Given the description of an element on the screen output the (x, y) to click on. 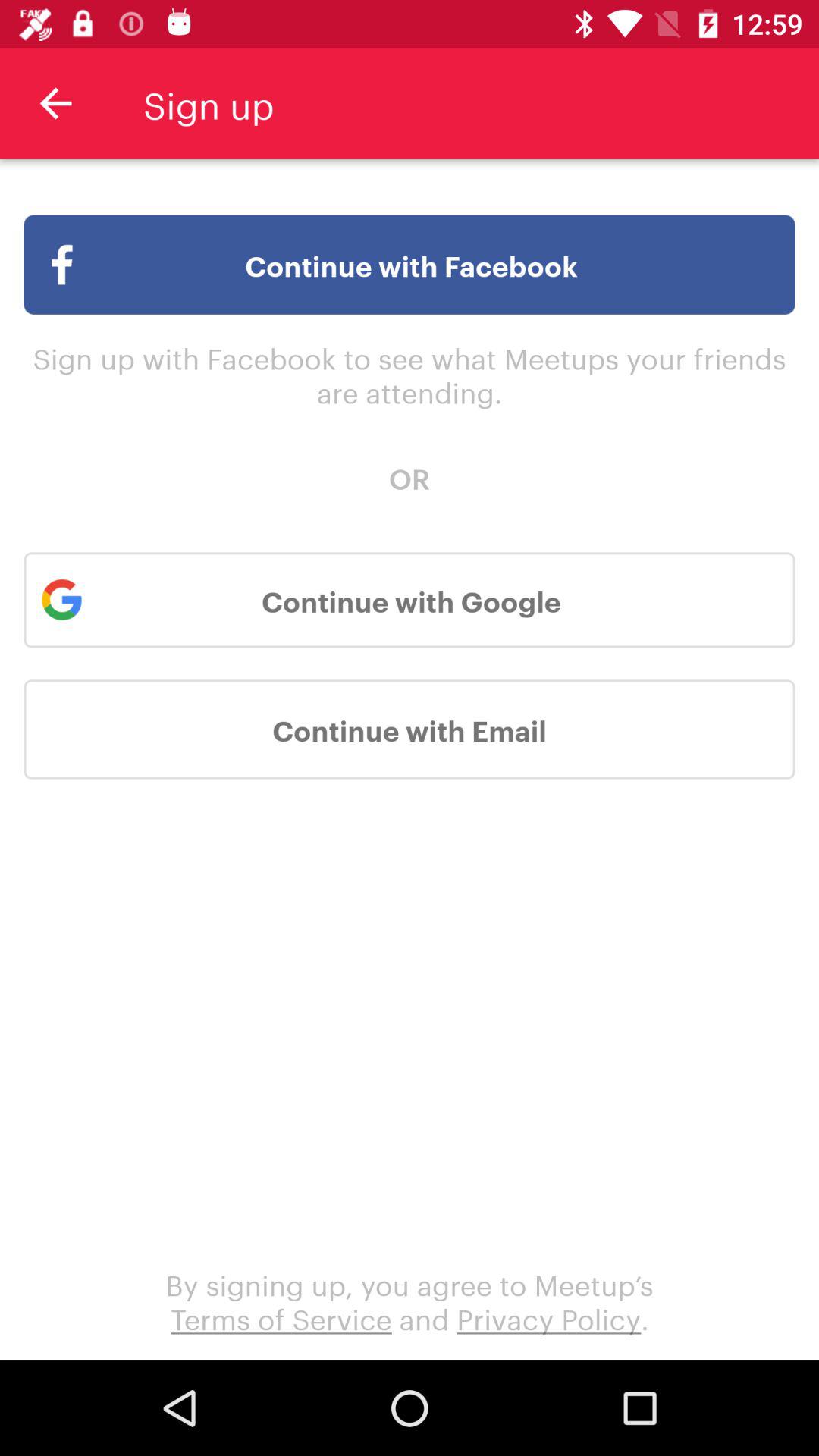
turn on item to the left of the sign up icon (55, 103)
